Given the description of an element on the screen output the (x, y) to click on. 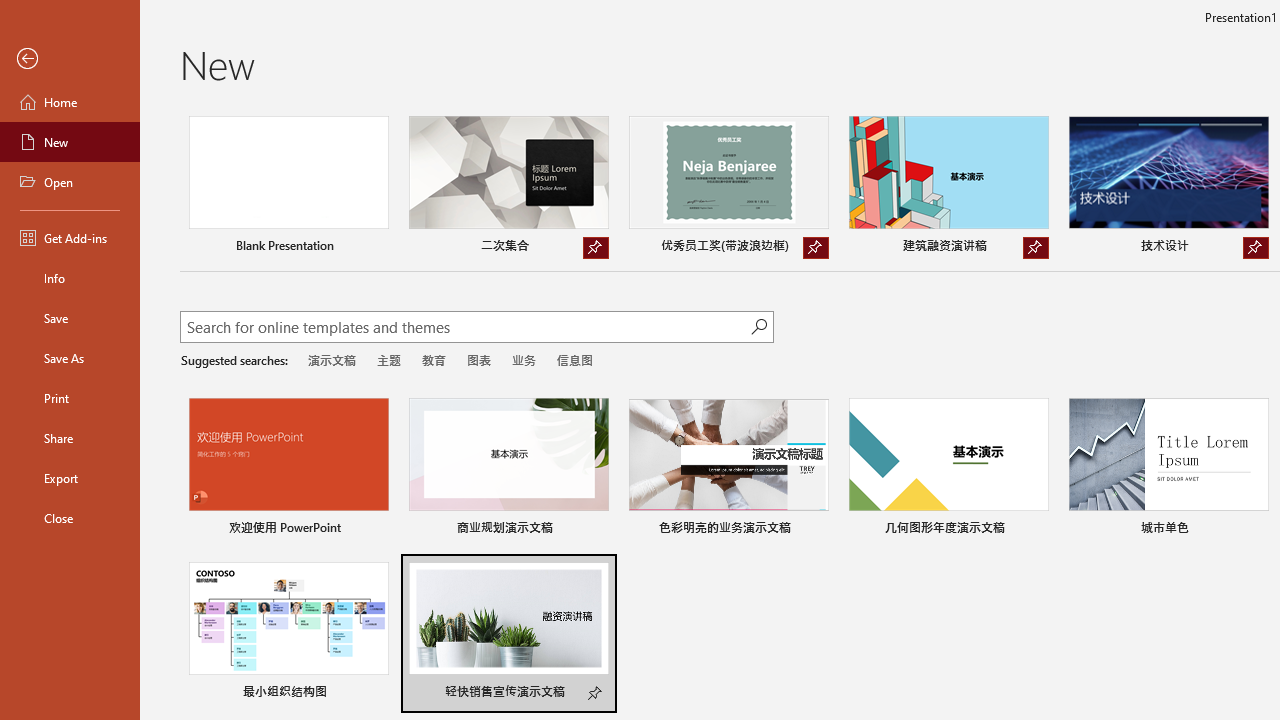
Start searching (758, 326)
Export (69, 477)
